Given the description of an element on the screen output the (x, y) to click on. 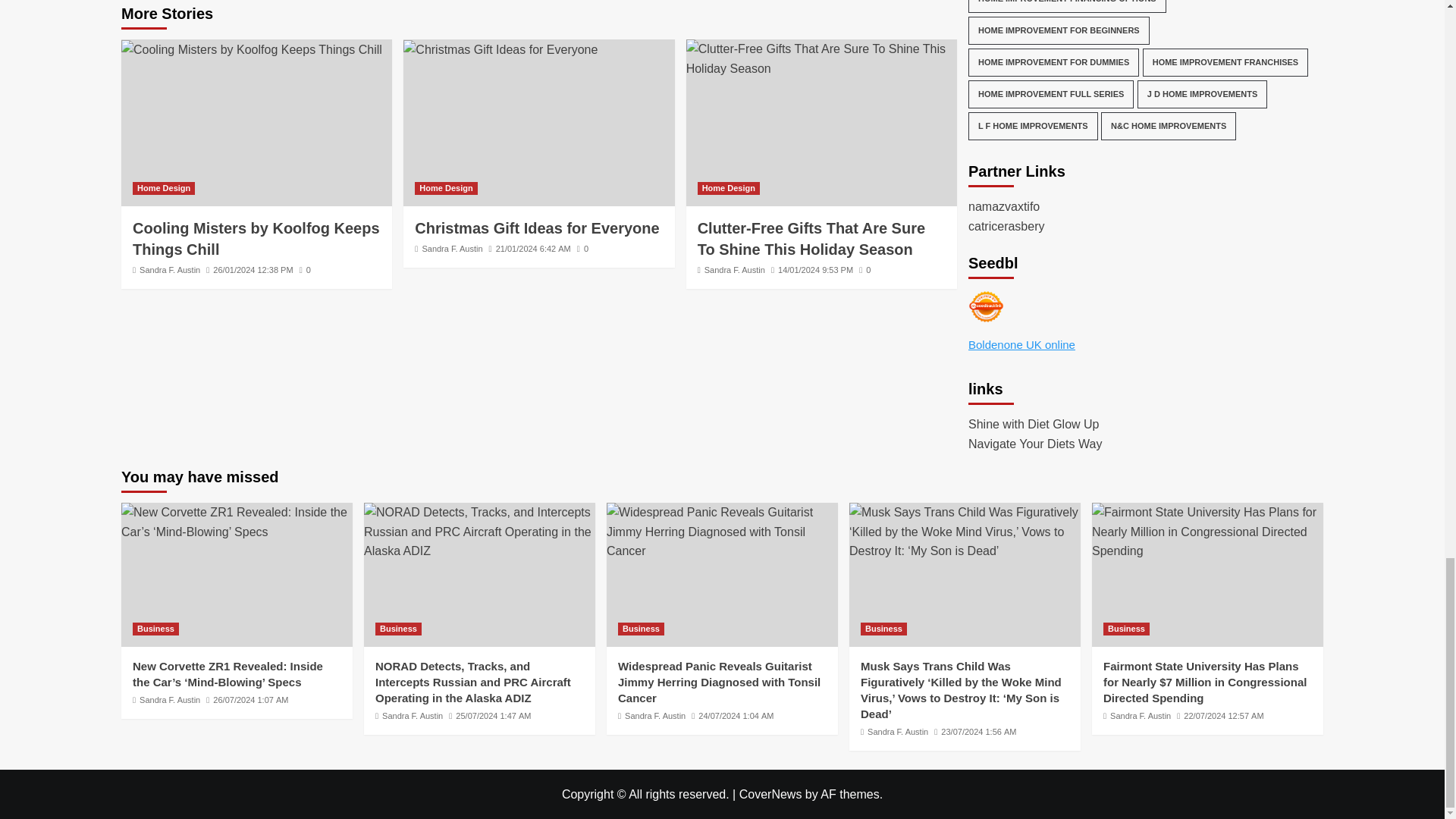
Seedbacklink (986, 306)
Christmas Gift Ideas for Everyone (499, 49)
Cooling Misters by Koolfog Keeps Things Chill (250, 49)
